Given the description of an element on the screen output the (x, y) to click on. 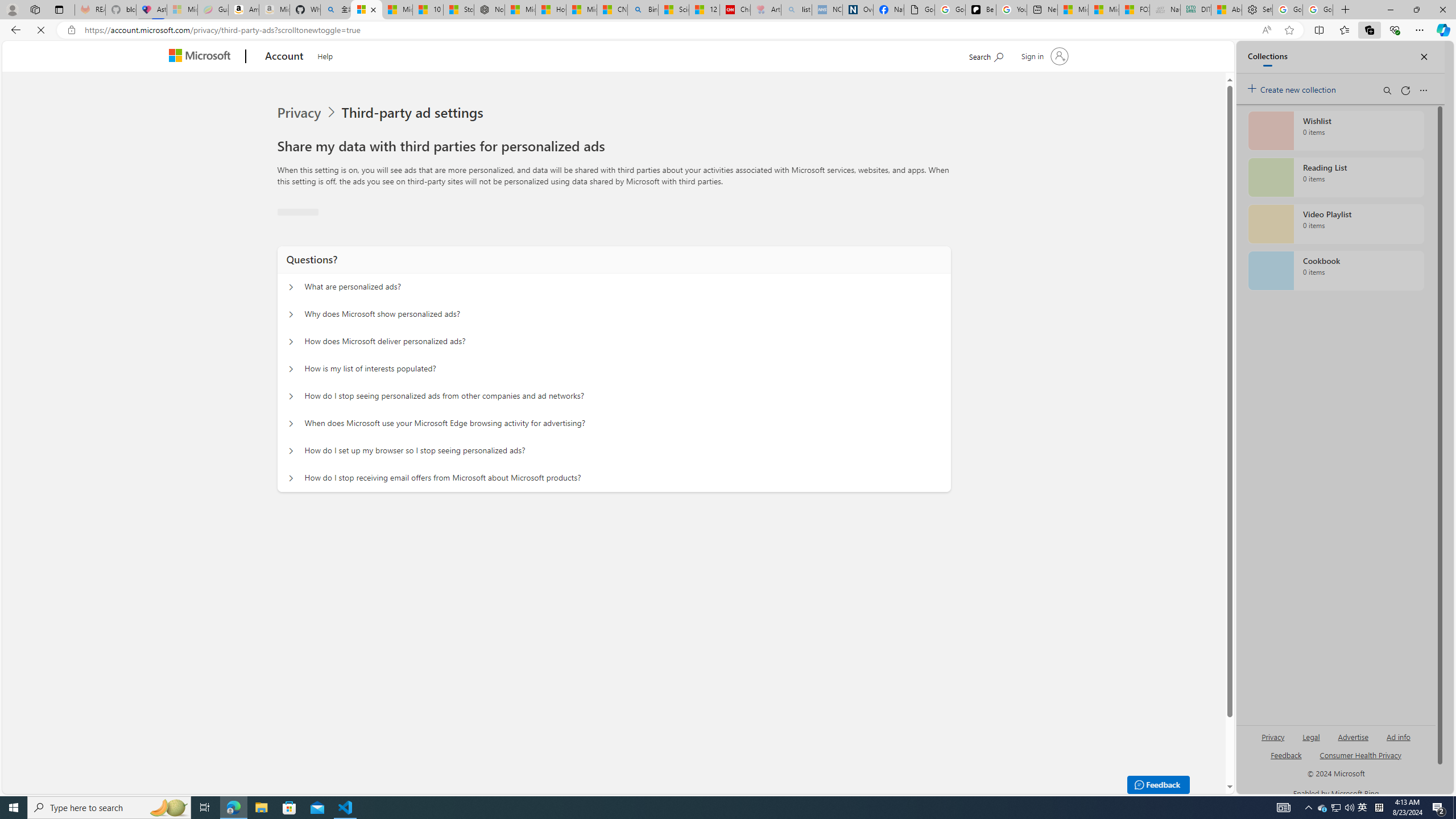
Asthma Inhalers: Names and Types (151, 9)
Microsoft (202, 56)
Aberdeen, Hong Kong SAR hourly forecast | Microsoft Weather (1226, 9)
Bing (642, 9)
How I Got Rid of Microsoft Edge's Unnecessary Features (549, 9)
